Given the description of an element on the screen output the (x, y) to click on. 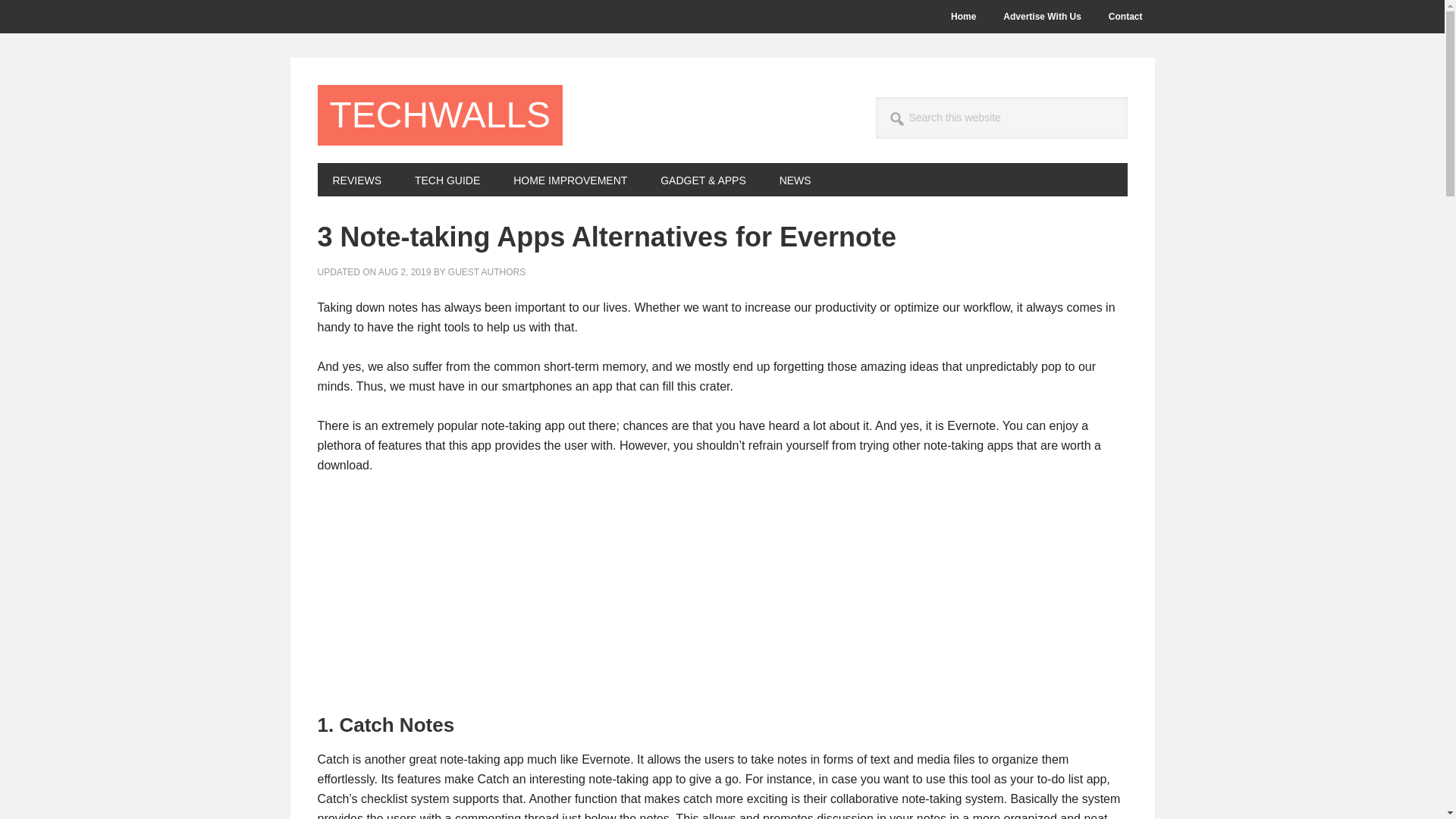
GUEST AUTHORS (486, 271)
TECH GUIDE (446, 179)
REVIEWS (356, 179)
HOME IMPROVEMENT (569, 179)
Tech Guide (446, 179)
Home (963, 16)
NEWS (795, 179)
Contact (1125, 16)
TECHWALLS (439, 115)
